Given the description of an element on the screen output the (x, y) to click on. 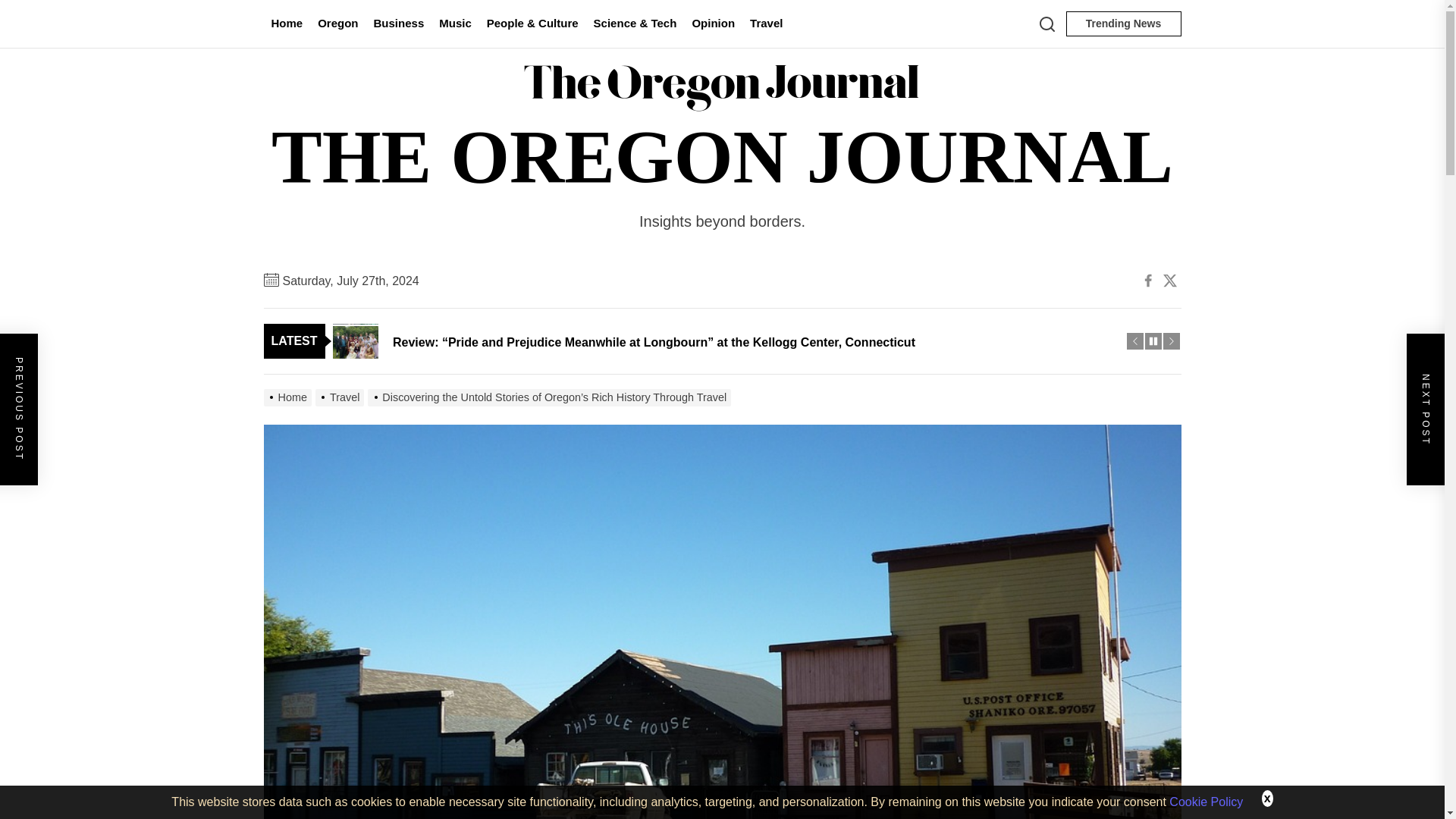
Travel (766, 23)
Trending News (1122, 23)
Oregon (337, 23)
Home (287, 23)
Opinion (713, 23)
Business (399, 23)
Music (454, 23)
Cookie Policy (1206, 801)
